Given the description of an element on the screen output the (x, y) to click on. 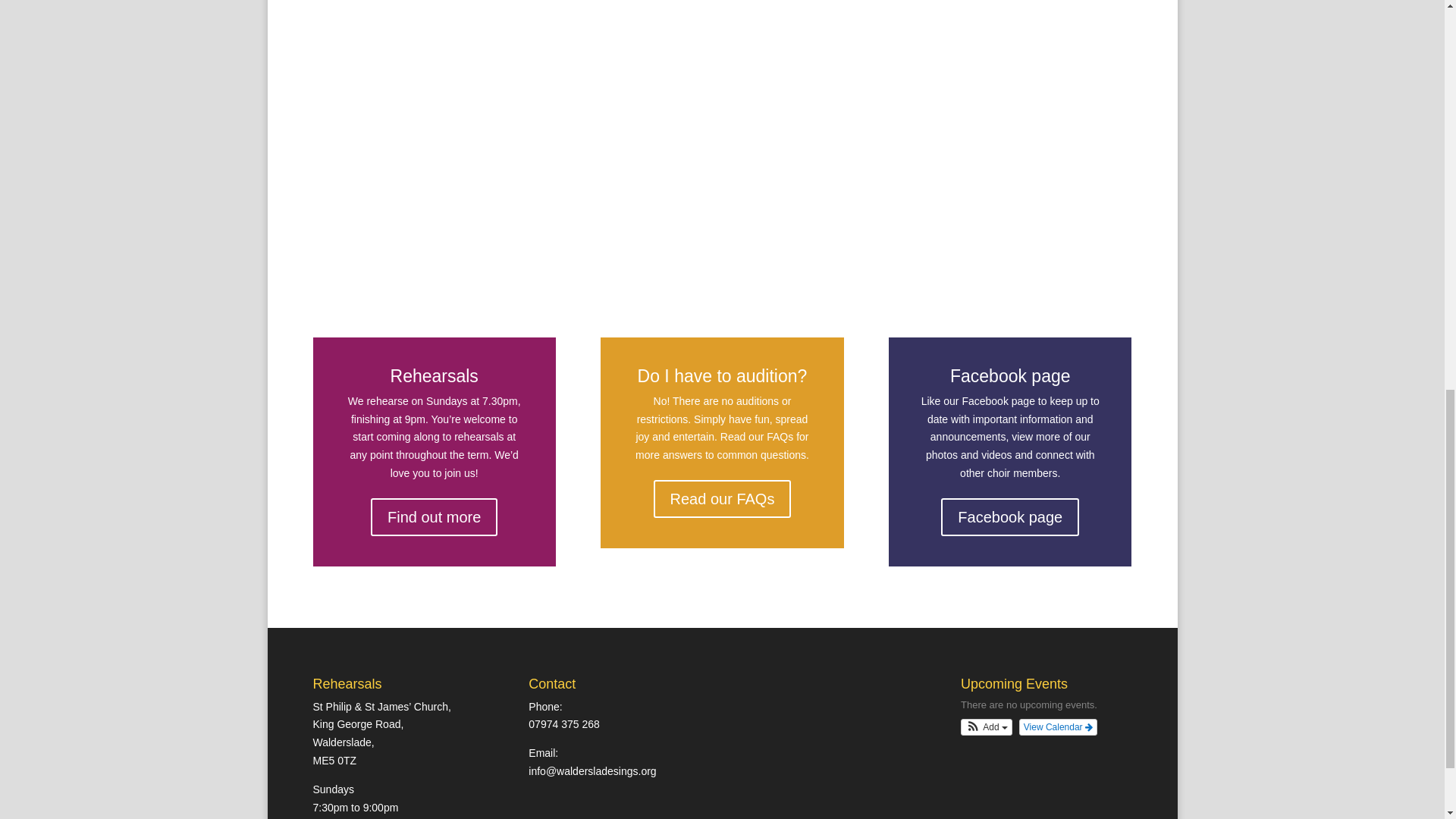
Facebook page (1009, 516)
View Calendar (1058, 727)
Find out more (434, 516)
Read our FAQs (722, 498)
